Given the description of an element on the screen output the (x, y) to click on. 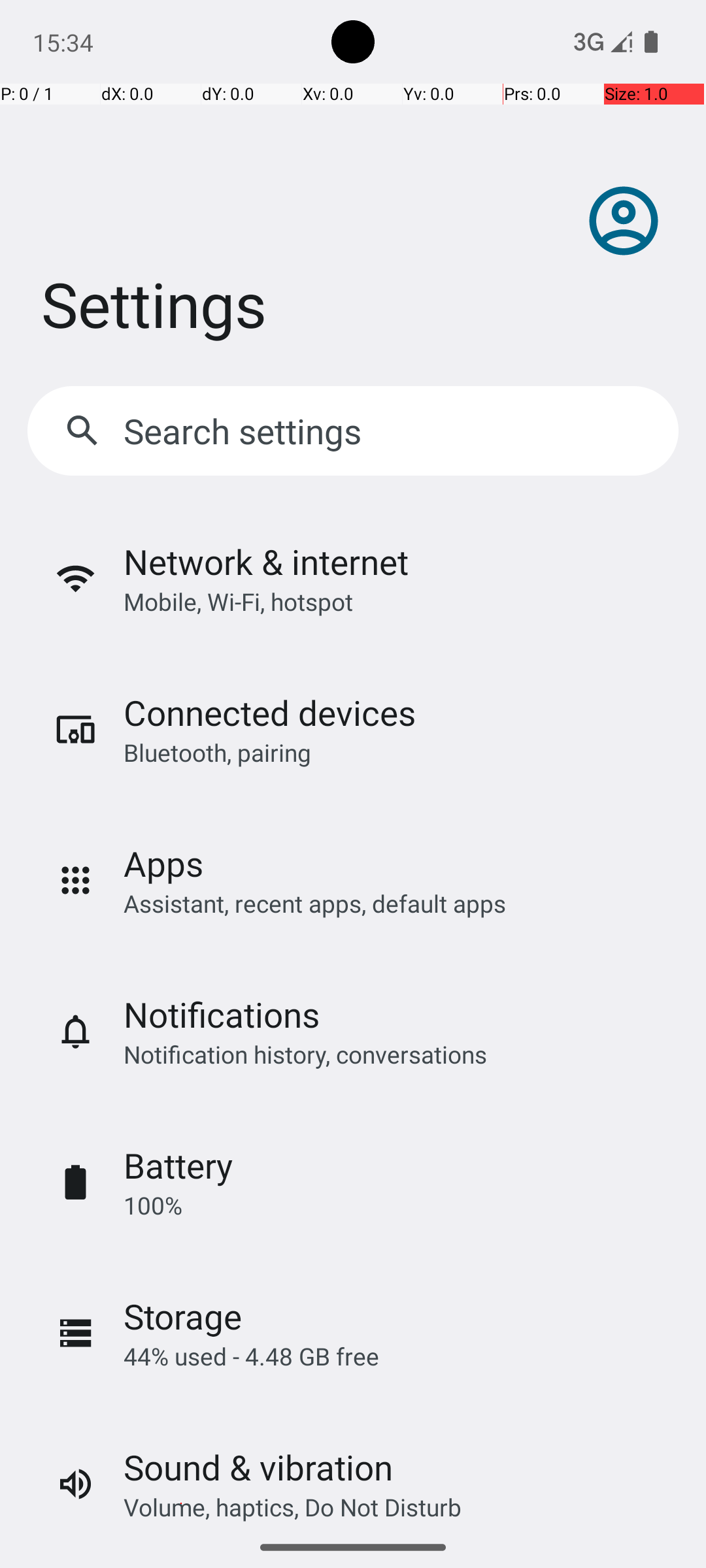
44% used - 4.48 GB free Element type: android.widget.TextView (251, 1355)
